Given the description of an element on the screen output the (x, y) to click on. 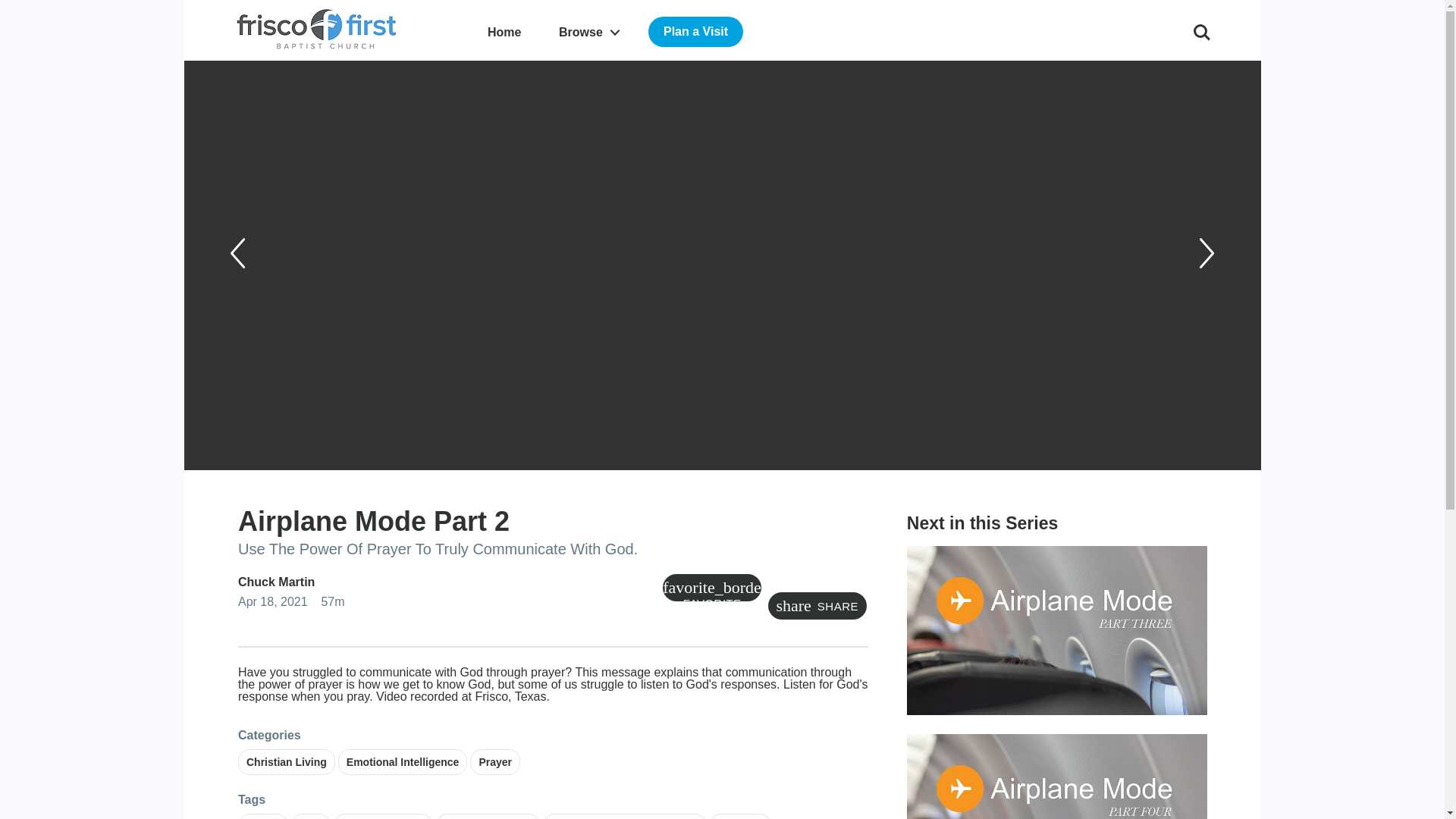
Browse (588, 32)
